Given the description of an element on the screen output the (x, y) to click on. 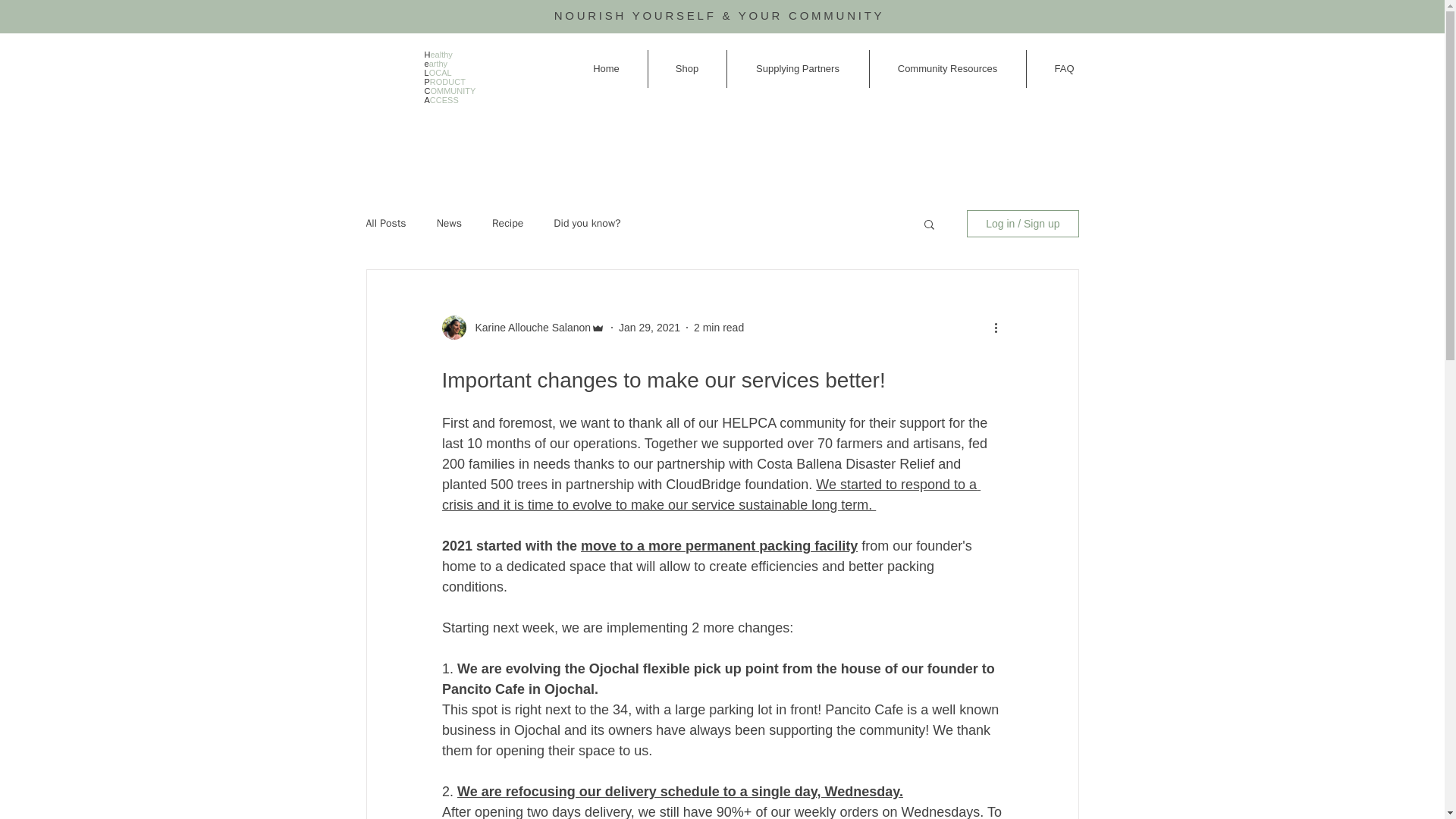
Community Resources (947, 68)
2 min read (719, 327)
Shop (686, 68)
All Posts (385, 223)
Did you know? (586, 223)
FAQ (1064, 68)
Jan 29, 2021 (648, 327)
Karine Allouche Salanon (528, 327)
Home (606, 68)
Recipe (507, 223)
Supplying Partners (796, 68)
News (448, 223)
